Given the description of an element on the screen output the (x, y) to click on. 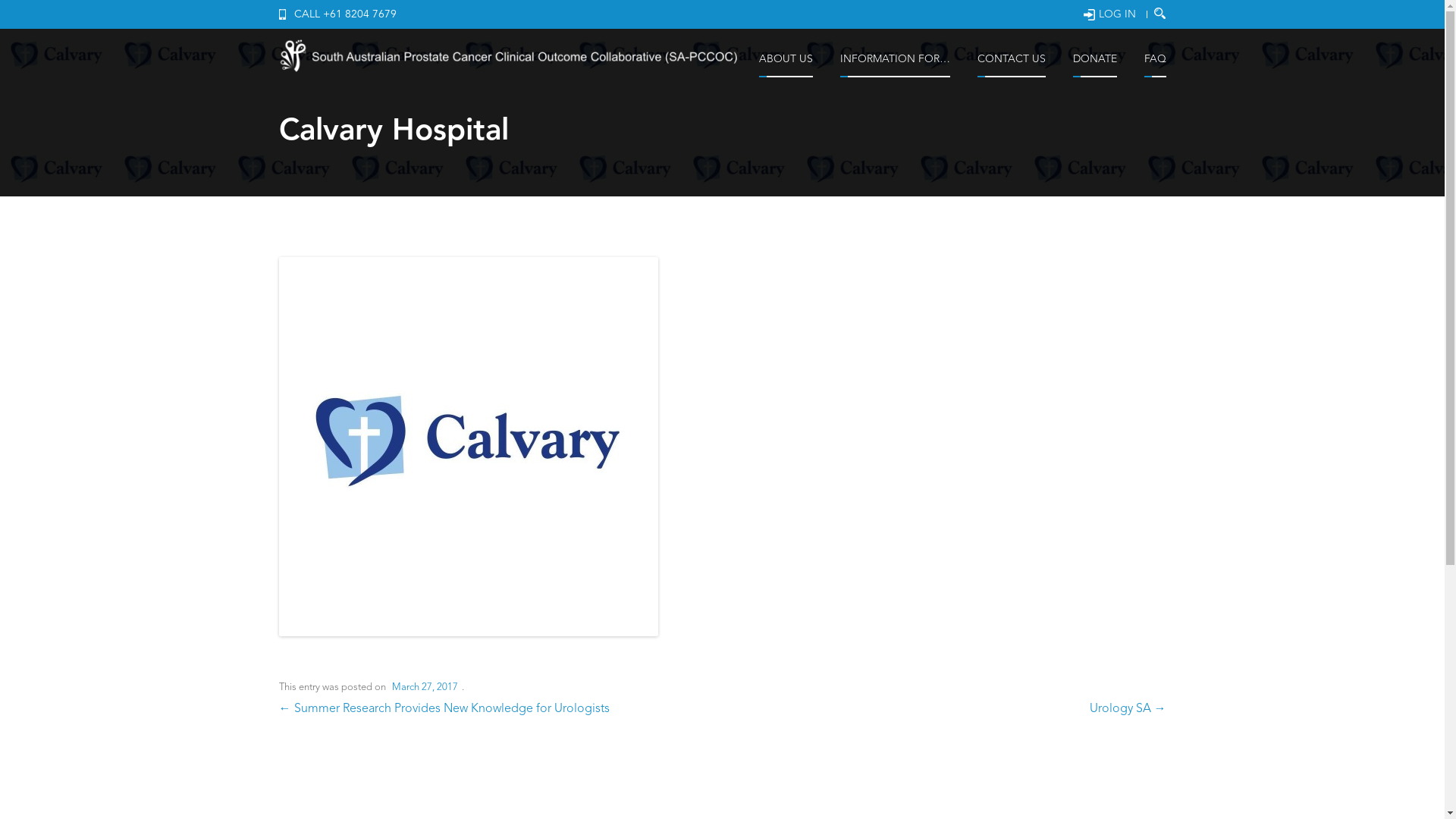
Skip to content Element type: text (955, 49)
SA-PCCOC Element type: hover (512, 58)
ABOUT US Element type: text (785, 63)
March 27, 2017 Element type: text (424, 687)
  Element type: text (1160, 13)
DONATE Element type: text (1094, 63)
FAQ Element type: text (1154, 63)
MEN AND FAMILIES AFFECTED BY PROSTATE CANCER Element type: text (908, 112)
LOG IN Element type: text (1108, 14)
CONTACT US Element type: text (1010, 63)
SA PROSTATE CANCER REGISTRY Element type: text (826, 102)
